Given the description of an element on the screen output the (x, y) to click on. 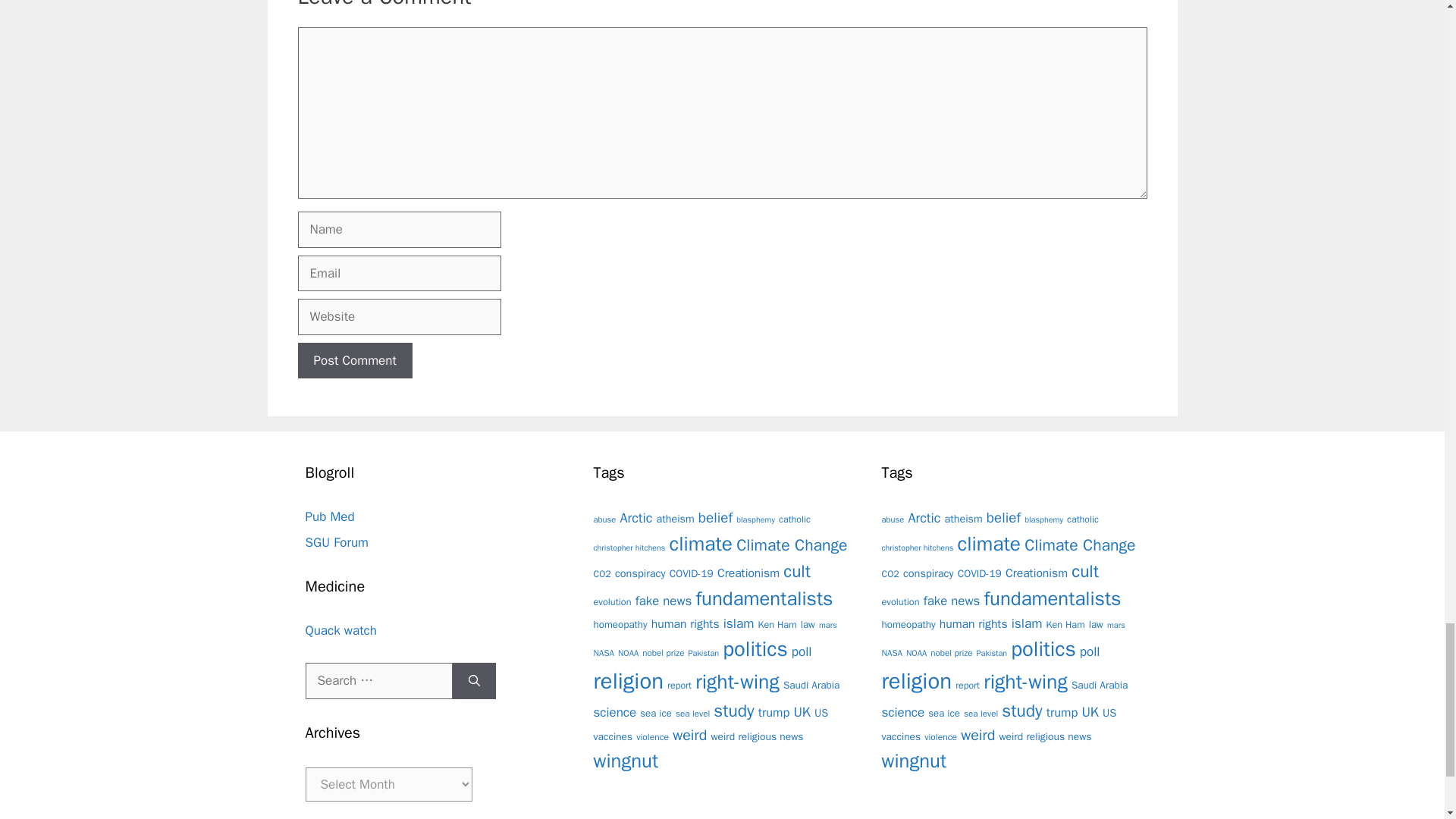
Search for: (377, 680)
Form for the Skeptics Guide to the Universe (336, 542)
Post Comment (354, 361)
